Given the description of an element on the screen output the (x, y) to click on. 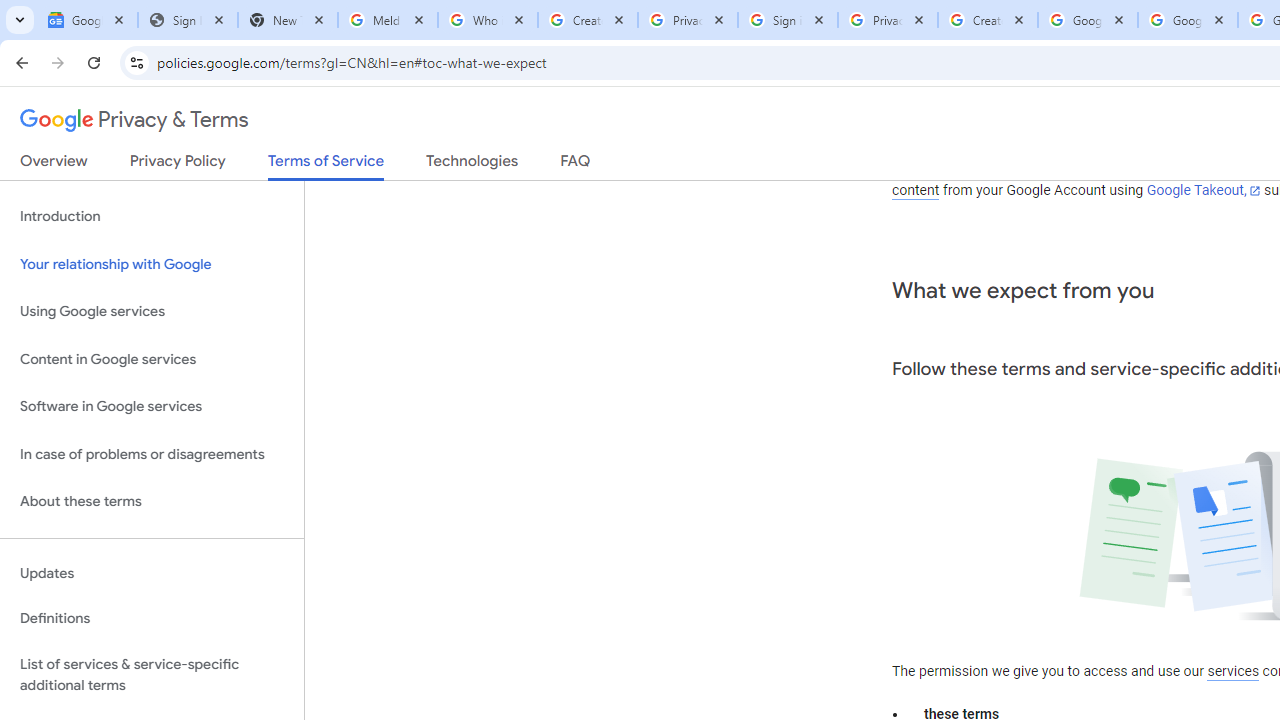
Create your Google Account (587, 20)
Your relationship with Google (152, 263)
Sign in - Google Accounts (788, 20)
Sign In - USA TODAY (188, 20)
Privacy Policy (177, 165)
Google Takeout, (1202, 191)
Overview (54, 165)
Updates (152, 573)
Introduction (152, 216)
Technologies (472, 165)
services (1233, 671)
Who is my administrator? - Google Account Help (487, 20)
